Given the description of an element on the screen output the (x, y) to click on. 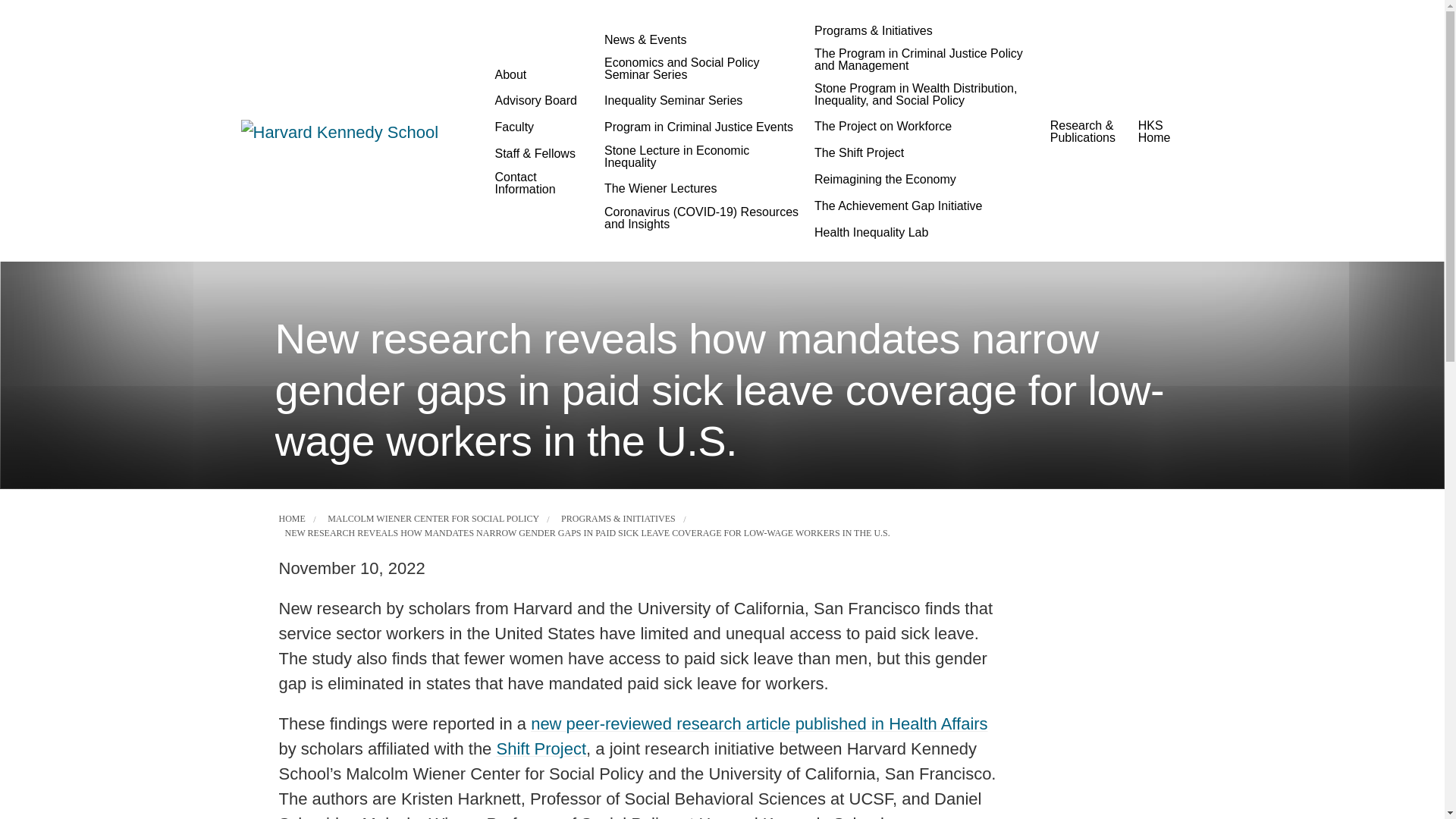
About (541, 74)
Contact Information (541, 183)
Advisory Board (535, 100)
Harvard Kennedy School (352, 130)
Program in Criminal Justice Events (698, 127)
Inequality Seminar Series (672, 100)
Economics and Social Policy Seminar Series (701, 68)
Stone Lecture in Economic Inequality (701, 156)
The Wiener Lectures (660, 188)
Faculty (513, 127)
